Given the description of an element on the screen output the (x, y) to click on. 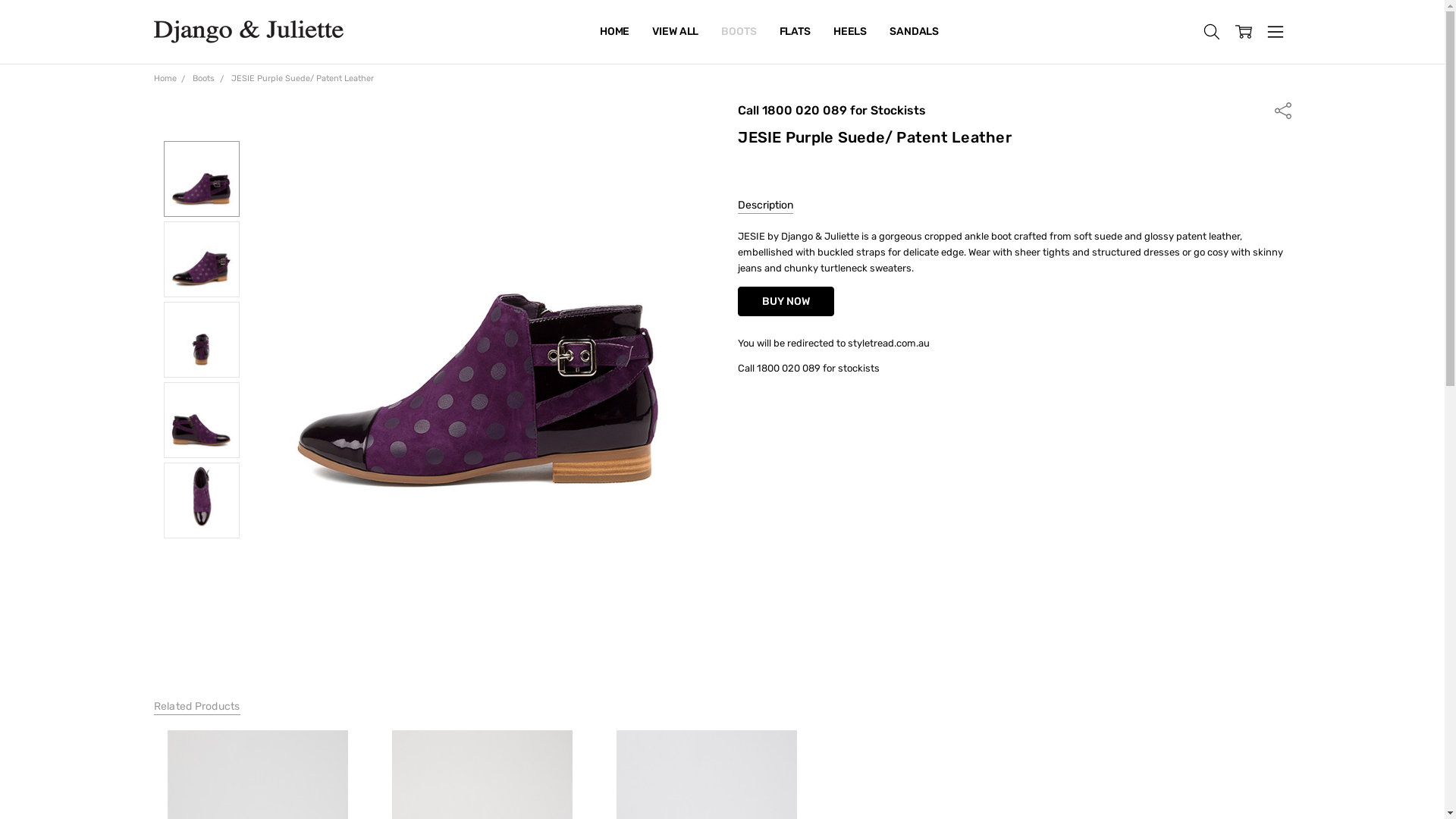
VIEW ALL Element type: text (674, 31)
Django and Juliette Element type: hover (247, 31)
JESIE Purple Suede/ Patent Leather Element type: hover (201, 259)
CONTACT US Element type: text (632, 31)
JESIE Purple Suede/ Patent Leather Element type: hover (201, 178)
JESIE Purple Suede/ Patent Leather Element type: hover (201, 339)
SANDALS Element type: text (914, 31)
SHOP OUR INSTAGRAM Element type: text (656, 31)
ABOUT DJANGO & JULIETTE Element type: text (670, 31)
BOOTS Element type: text (738, 31)
Share Element type: text (1282, 109)
JESIE Purple Suede/ Patent Leather Element type: hover (477, 329)
Show All Element type: hover (607, 31)
HEELS Element type: text (850, 31)
Home Element type: text (164, 78)
JESIE Purple Suede/ Patent Leather Element type: hover (201, 500)
JESIE Purple Suede/ Patent Leather Element type: hover (201, 419)
HOME Element type: text (614, 31)
FLATS Element type: text (795, 31)
SILENT D BY DJANGO & JULIETTE Element type: text (683, 31)
JESIE Purple Suede/ Patent Leather Element type: text (302, 78)
Description Element type: text (765, 205)
BECOME A STOCKIST Element type: text (652, 31)
PRIVACY POLICY Element type: text (641, 31)
BUY NOW Element type: text (785, 301)
Boots Element type: text (203, 78)
FIND A STOCKIST Element type: text (642, 31)
